Given the description of an element on the screen output the (x, y) to click on. 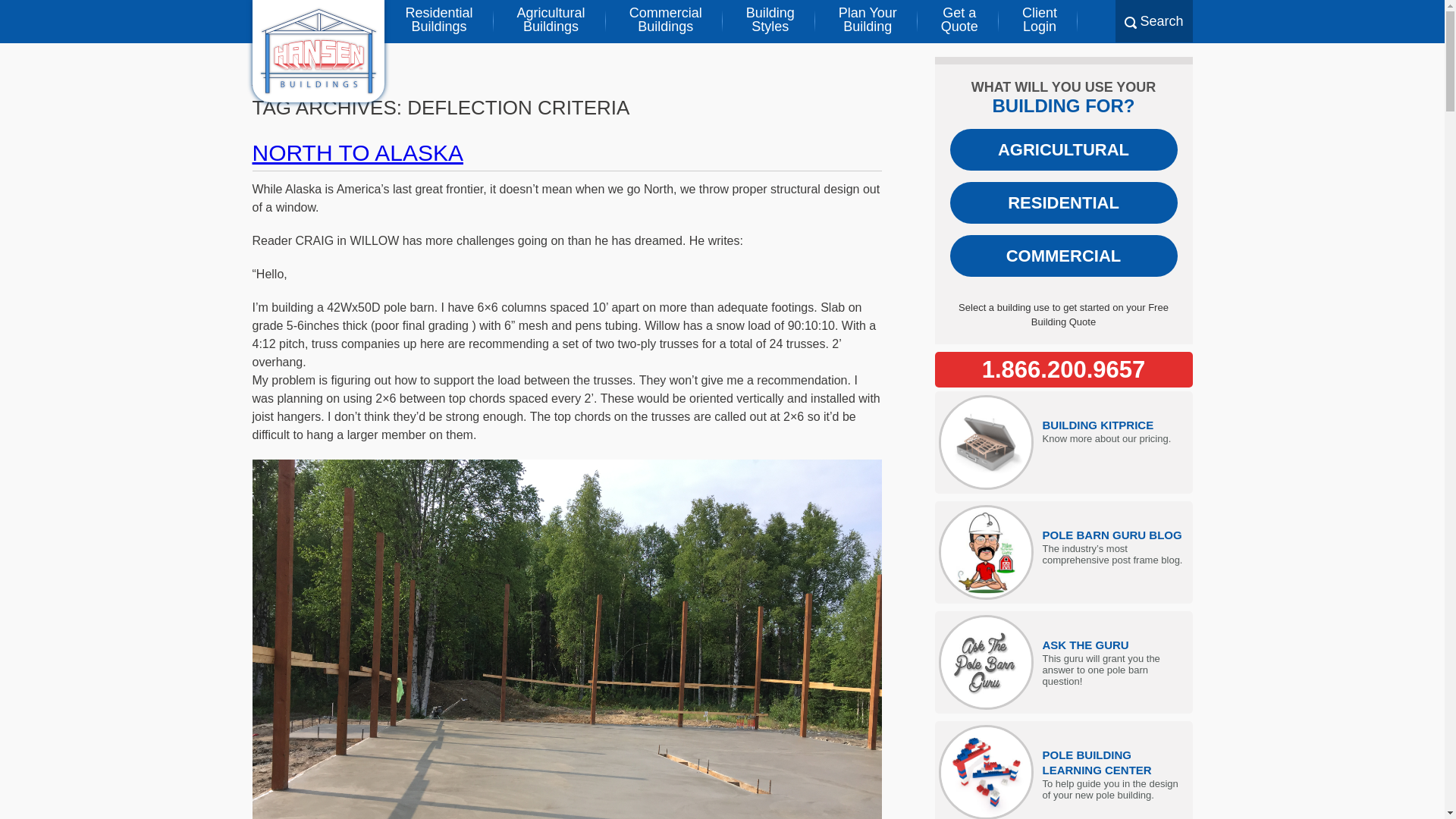
Go to Hansen Buildings. (665, 21)
